Given the description of an element on the screen output the (x, y) to click on. 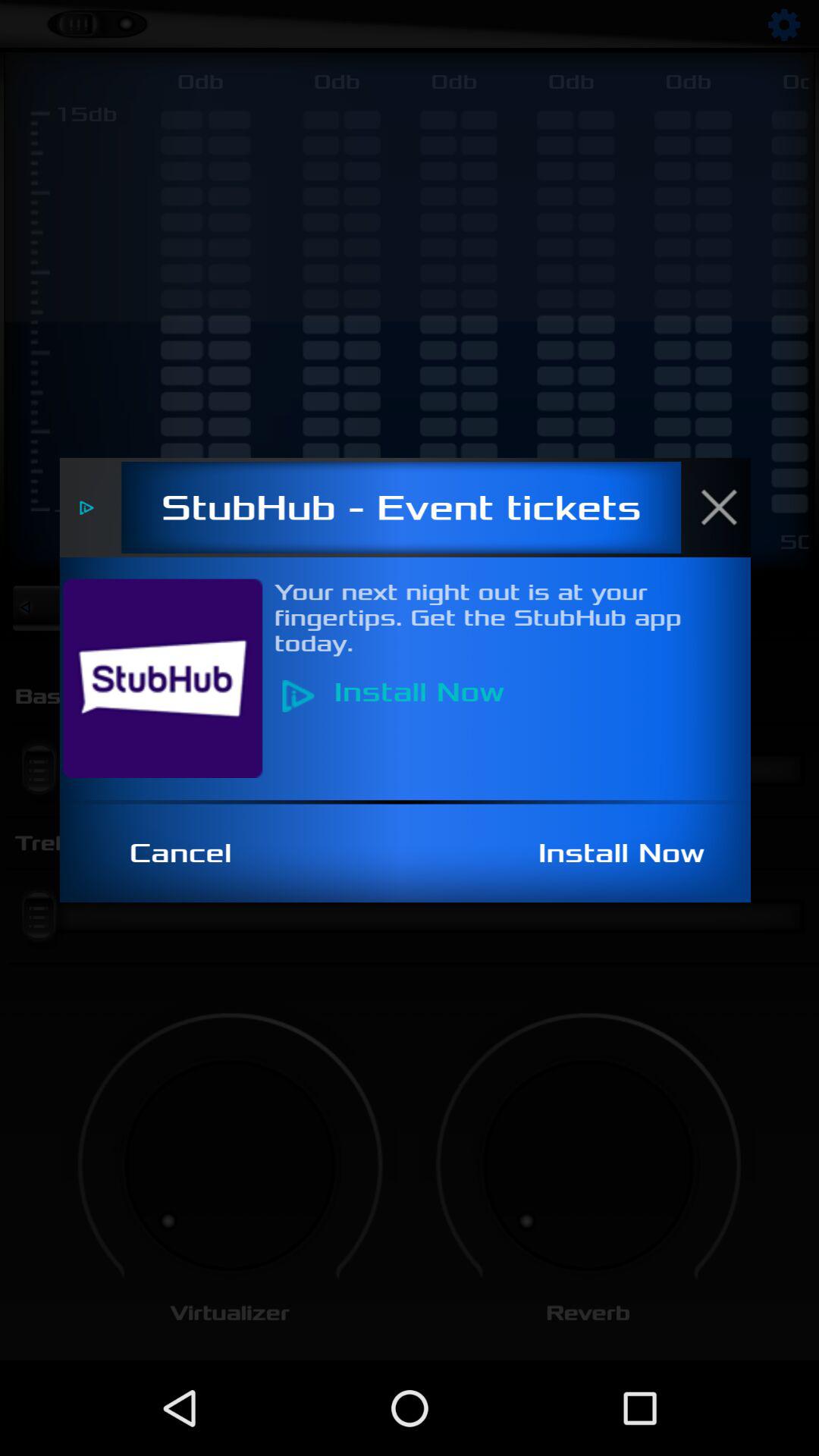
open item below stubhub - event tickets icon (170, 678)
